Given the description of an element on the screen output the (x, y) to click on. 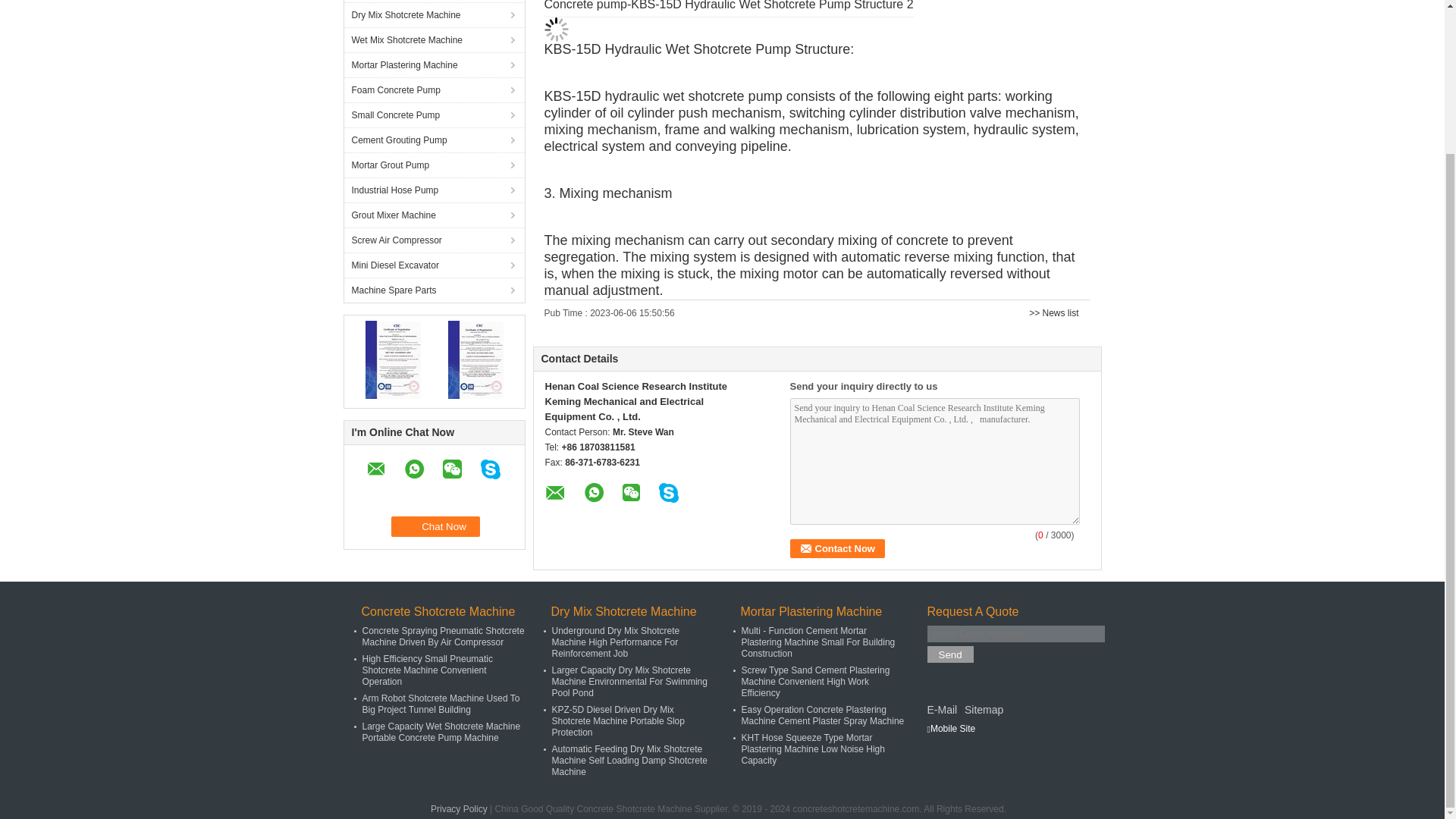
Foam Concrete Pump (433, 89)
Chat Now (435, 526)
Cement Grouting Pump (433, 139)
Small Concrete Pump (433, 114)
Wet Mix Shotcrete Machine (433, 39)
Dry Mix Shotcrete Machine (433, 14)
Contact Now (837, 547)
Mortar Plastering Machine (433, 64)
Concrete Shotcrete Machine (433, 1)
